Given the description of an element on the screen output the (x, y) to click on. 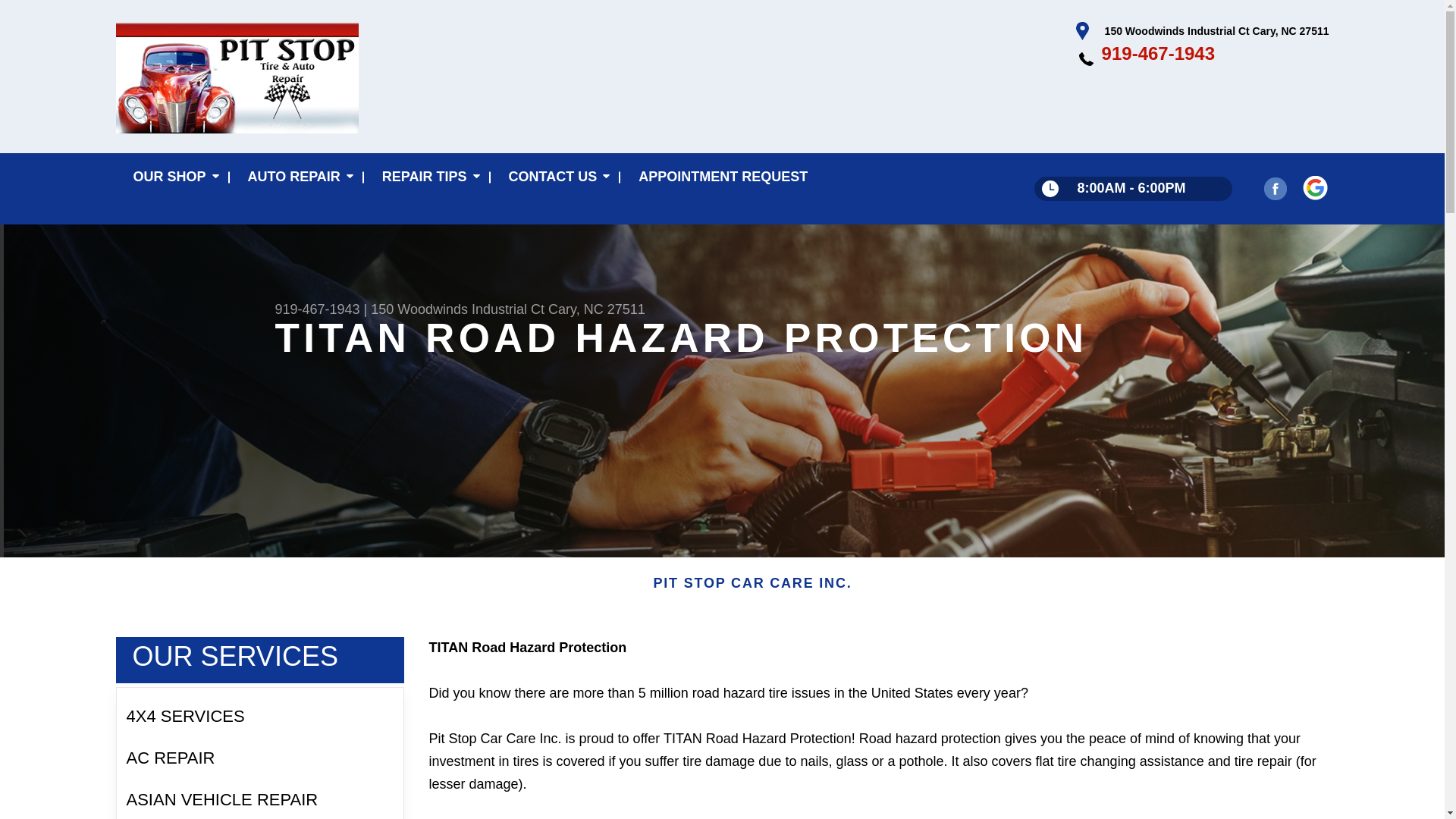
AUTO REPAIR (297, 177)
8:00AM - 6:00PM (1132, 188)
919-467-1943 (1158, 53)
OUR SHOP (172, 177)
150 Woodwinds Industrial Ct (457, 309)
CONTACT US (556, 177)
REPAIR TIPS (428, 177)
APPOINTMENT REQUEST (723, 177)
919-467-1943 (317, 309)
